Given the description of an element on the screen output the (x, y) to click on. 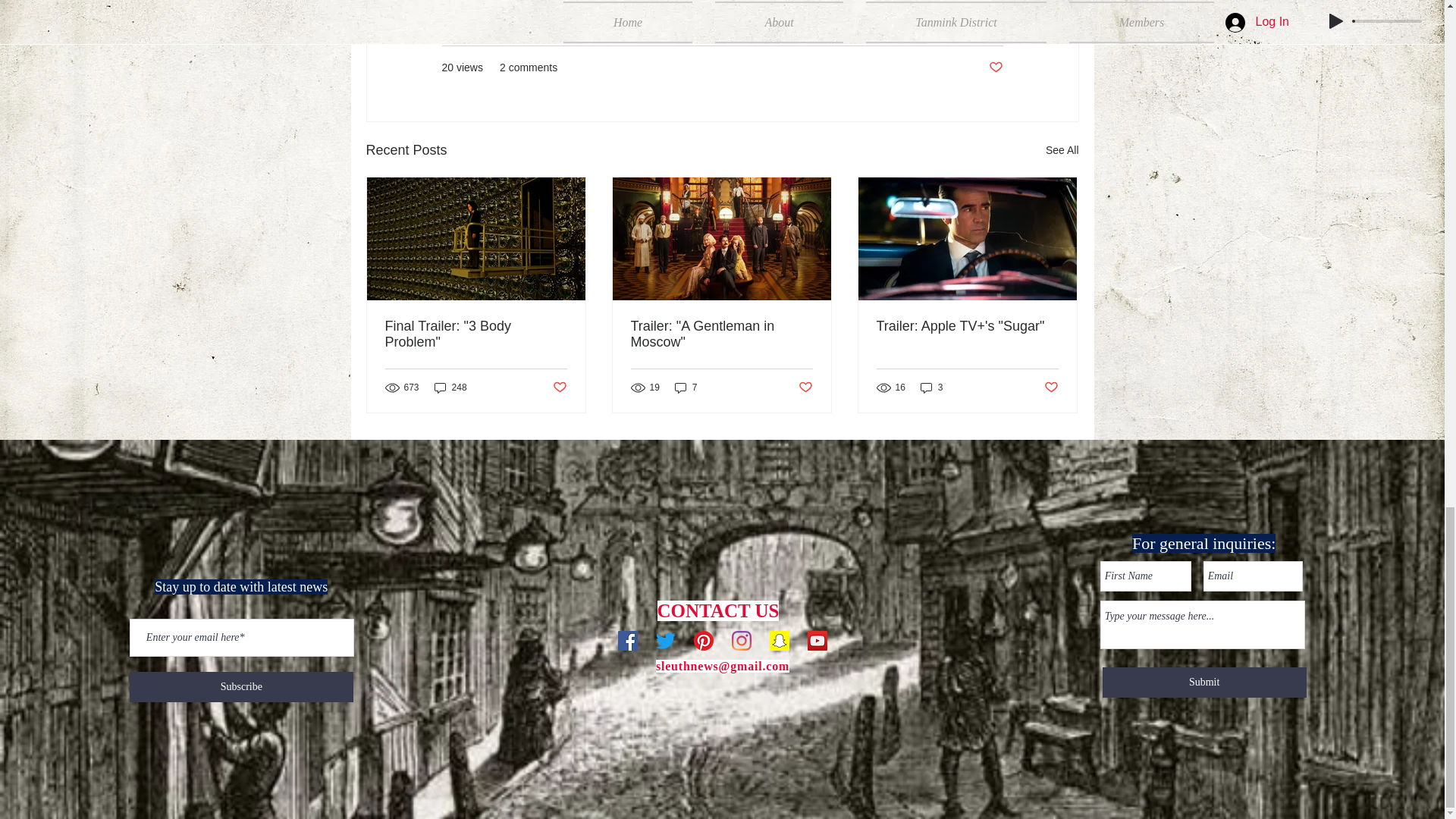
Post not marked as liked (804, 387)
Trailer: "A Gentleman in Moscow" (721, 334)
Trailers (985, 22)
Post not marked as liked (995, 67)
Final Trailer: "3 Body Problem" (476, 334)
Post not marked as liked (558, 387)
See All (1061, 150)
7 (685, 387)
3 (931, 387)
248 (450, 387)
